Given the description of an element on the screen output the (x, y) to click on. 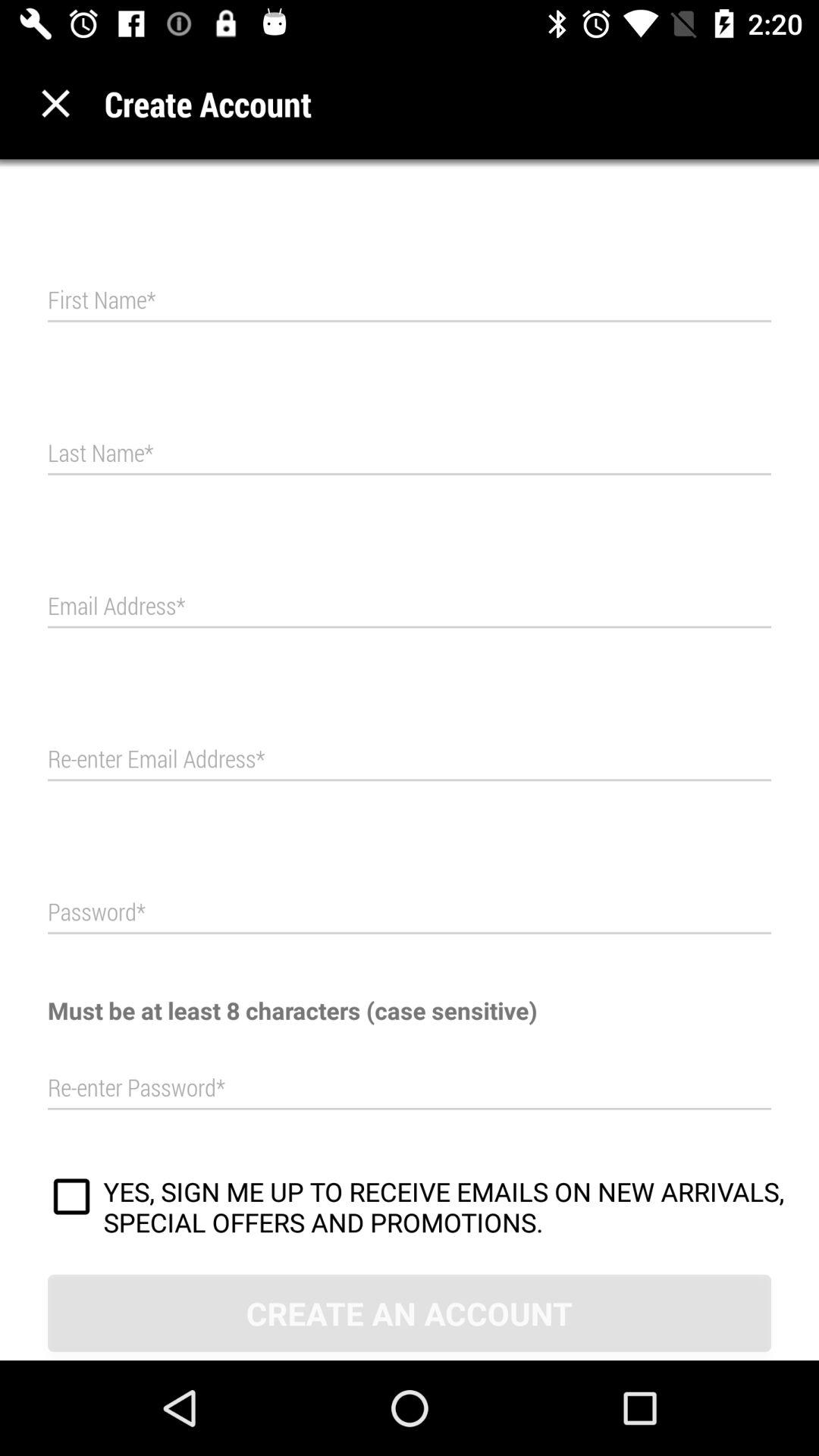
choose the icon at the bottom left corner (71, 1198)
